Given the description of an element on the screen output the (x, y) to click on. 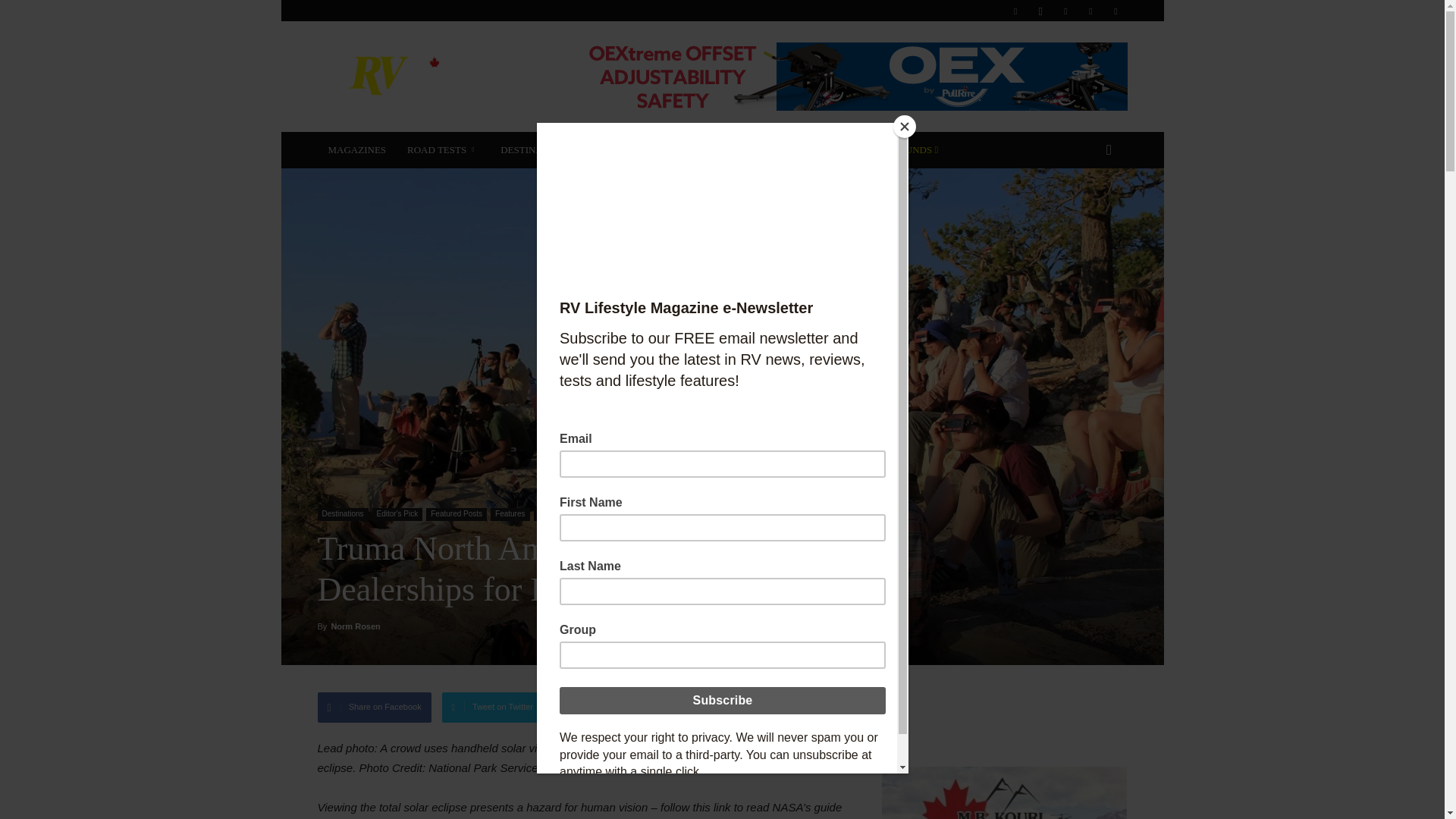
Facebook (1015, 10)
Twitter (1090, 10)
RSS (1065, 10)
Youtube (1114, 10)
Instagram (1040, 10)
